Given the description of an element on the screen output the (x, y) to click on. 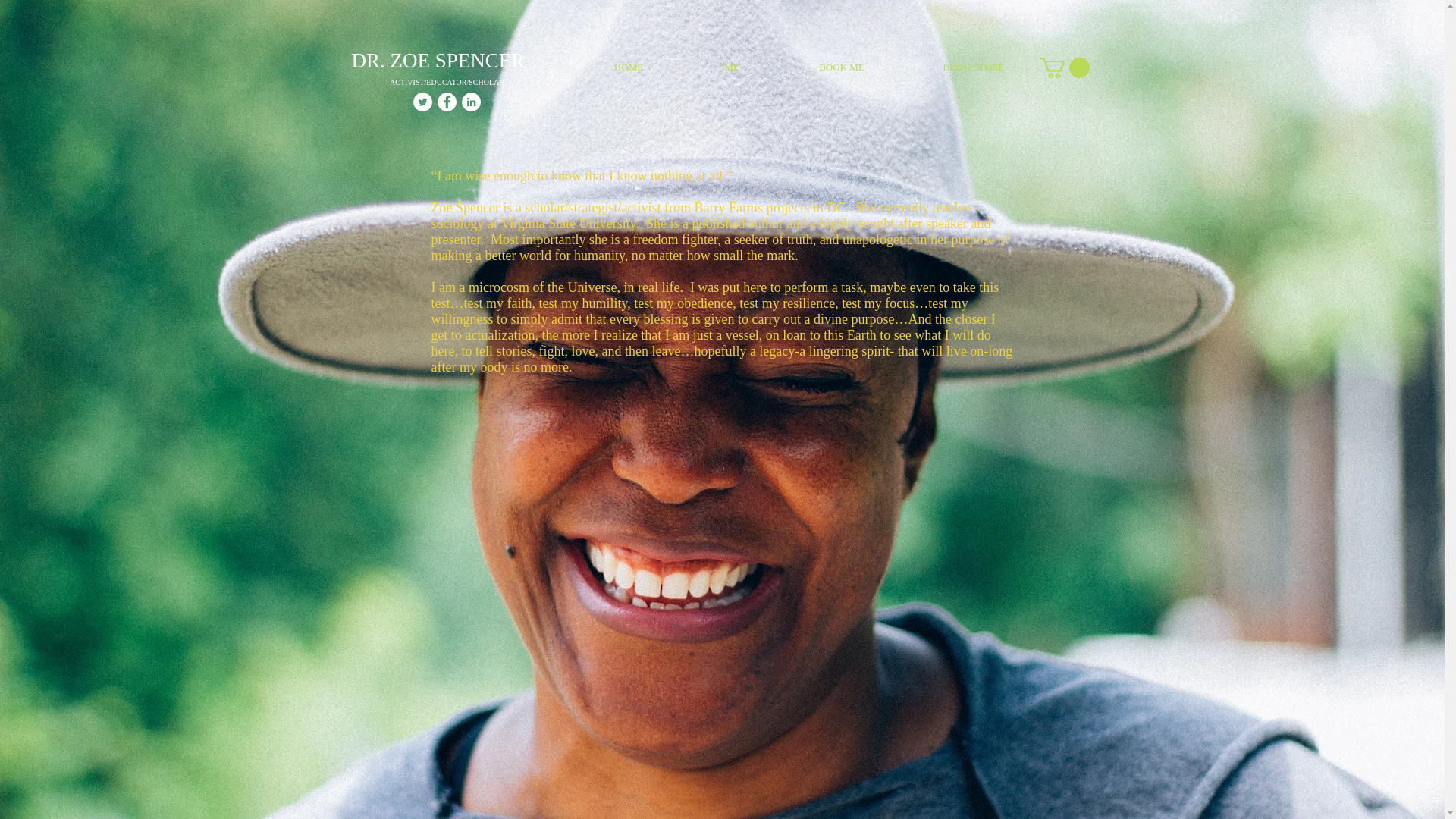
BOOK STORE (973, 66)
DR. ZOE SPENCER (438, 60)
ME (732, 66)
BOOK ME (840, 66)
HOME (627, 66)
